Given the description of an element on the screen output the (x, y) to click on. 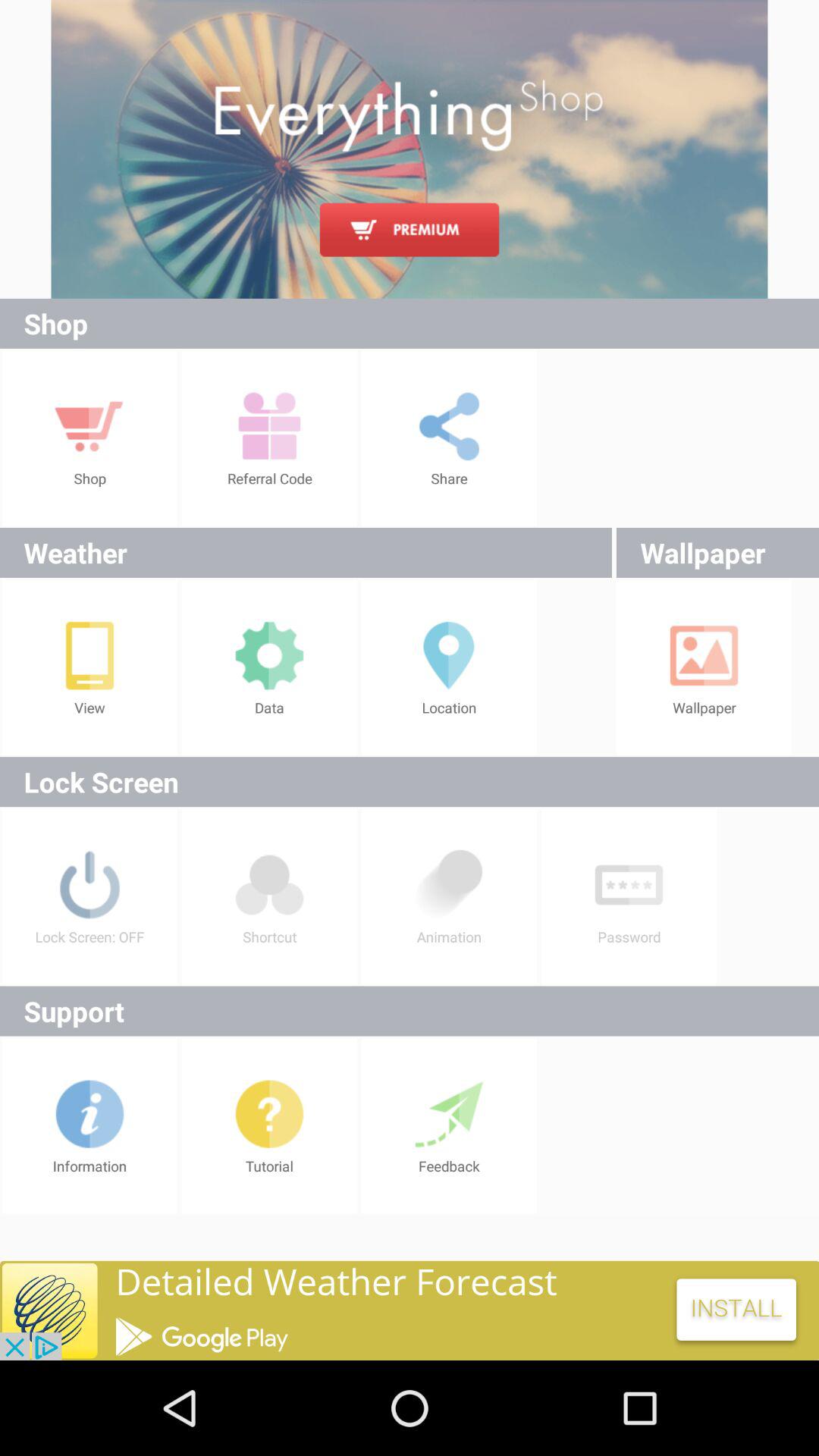
add icone (409, 1310)
